Given the description of an element on the screen output the (x, y) to click on. 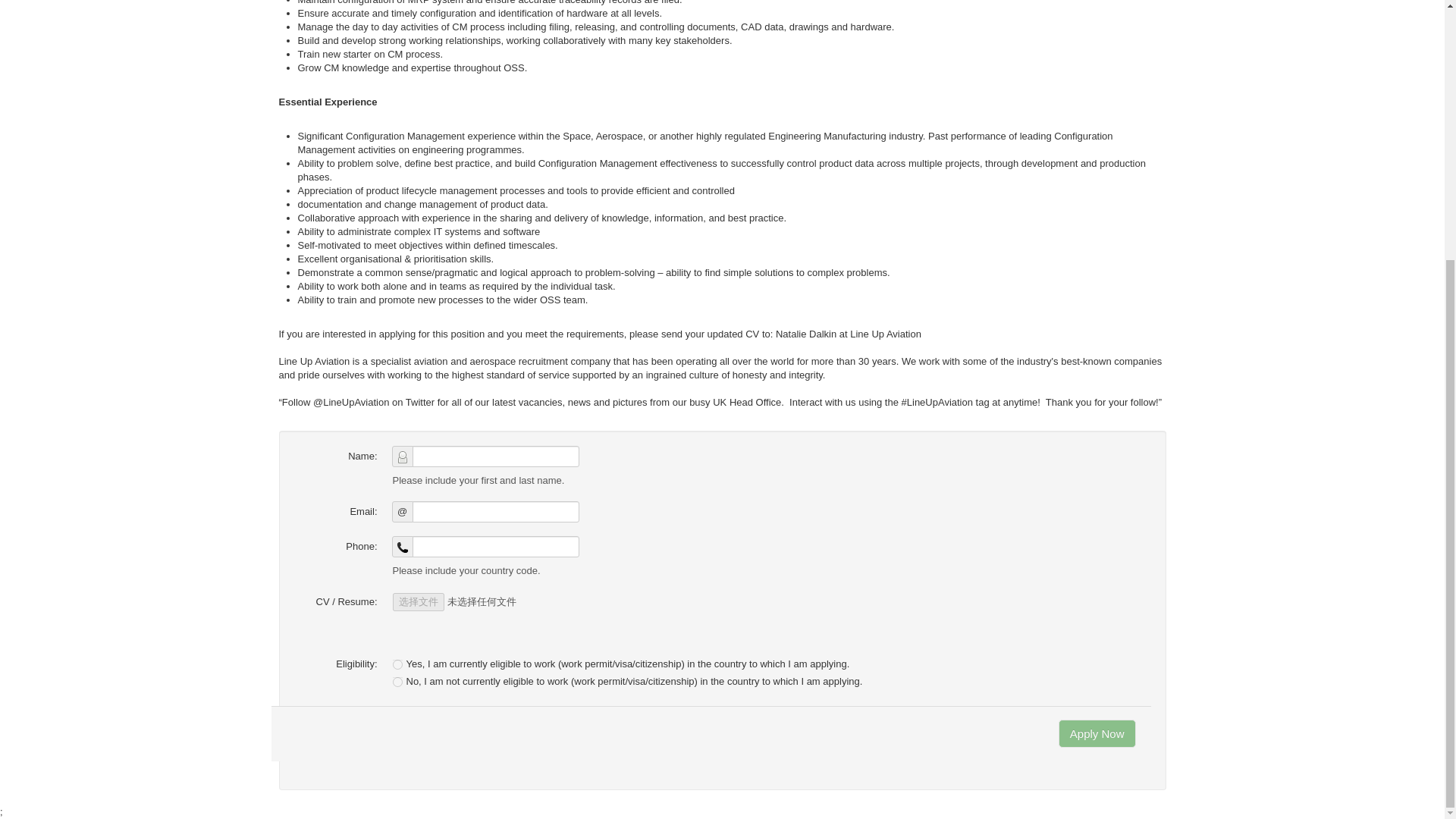
No (398, 682)
Yes (398, 664)
Apply Now (1096, 733)
Apply Now (1096, 733)
